Given the description of an element on the screen output the (x, y) to click on. 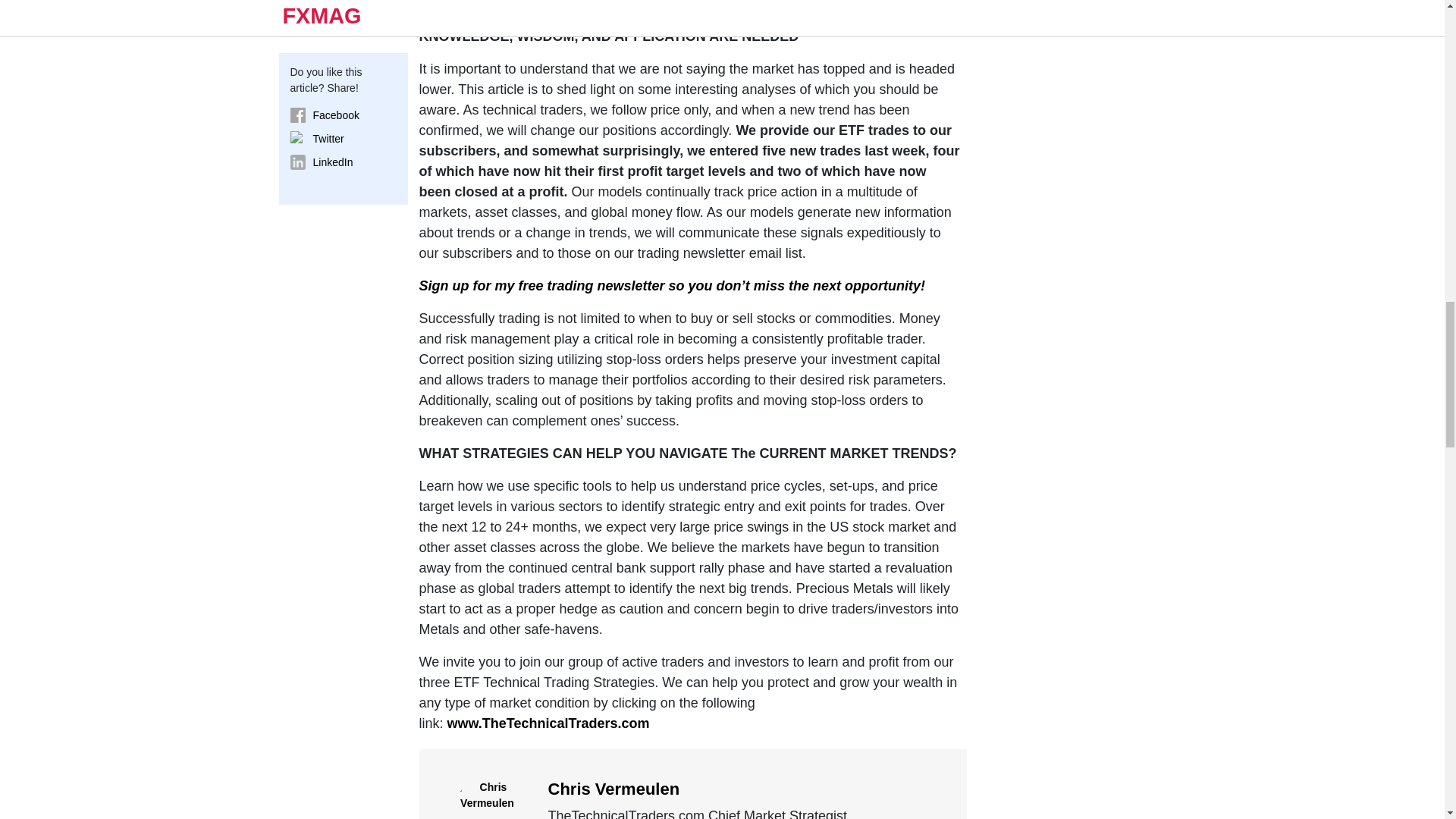
www.TheTechnicalTraders.com (547, 723)
Chris Vermeulen (613, 788)
www.TheTechnicalTraders.com (520, 5)
